Given the description of an element on the screen output the (x, y) to click on. 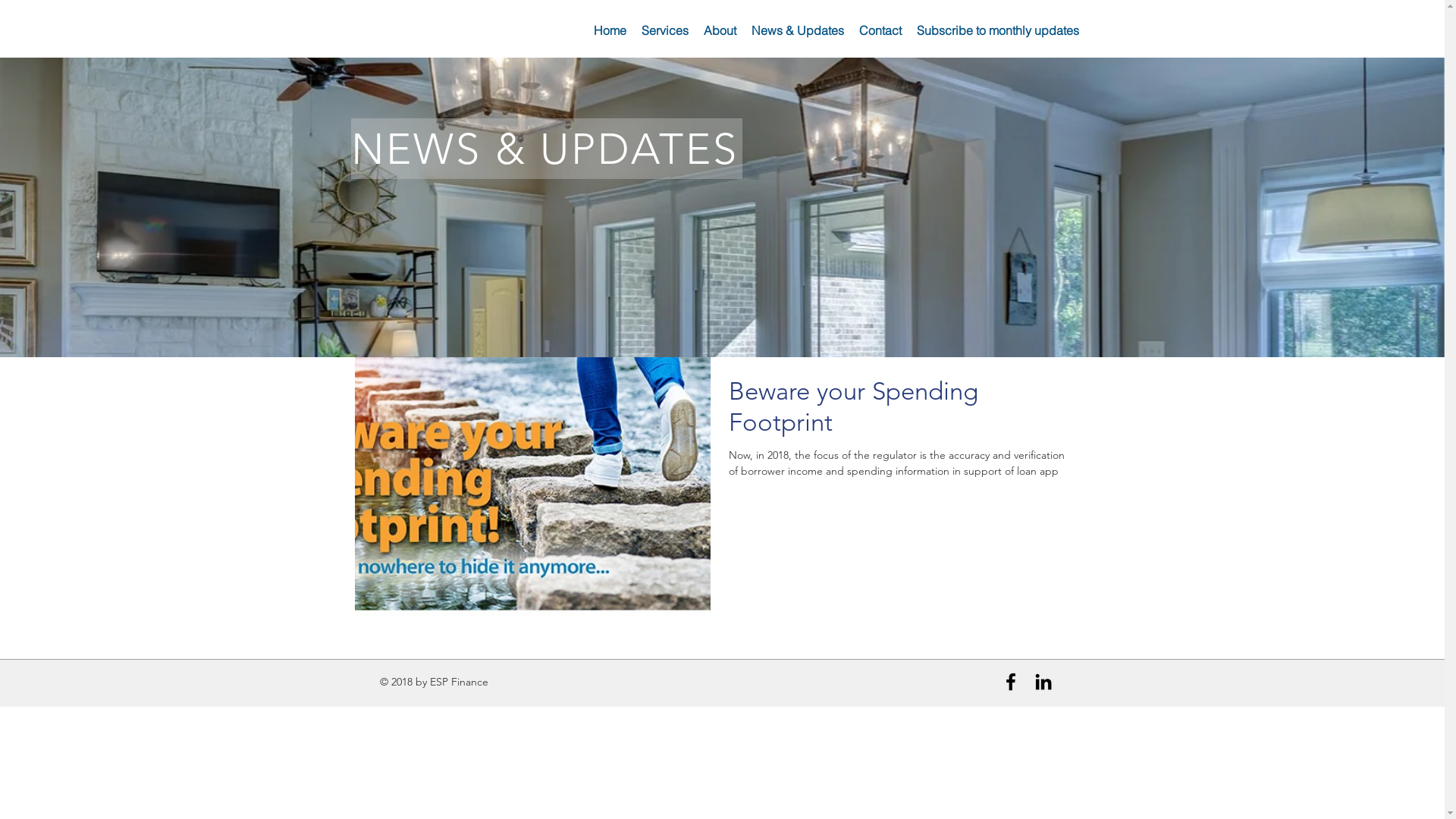
Services Element type: text (664, 30)
News & Updates Element type: text (796, 30)
Contact Element type: text (879, 30)
Beware your Spending Footprint Element type: text (899, 411)
About Element type: text (719, 30)
Subscribe to monthly updates Element type: text (996, 30)
Home Element type: text (609, 30)
